Given the description of an element on the screen output the (x, y) to click on. 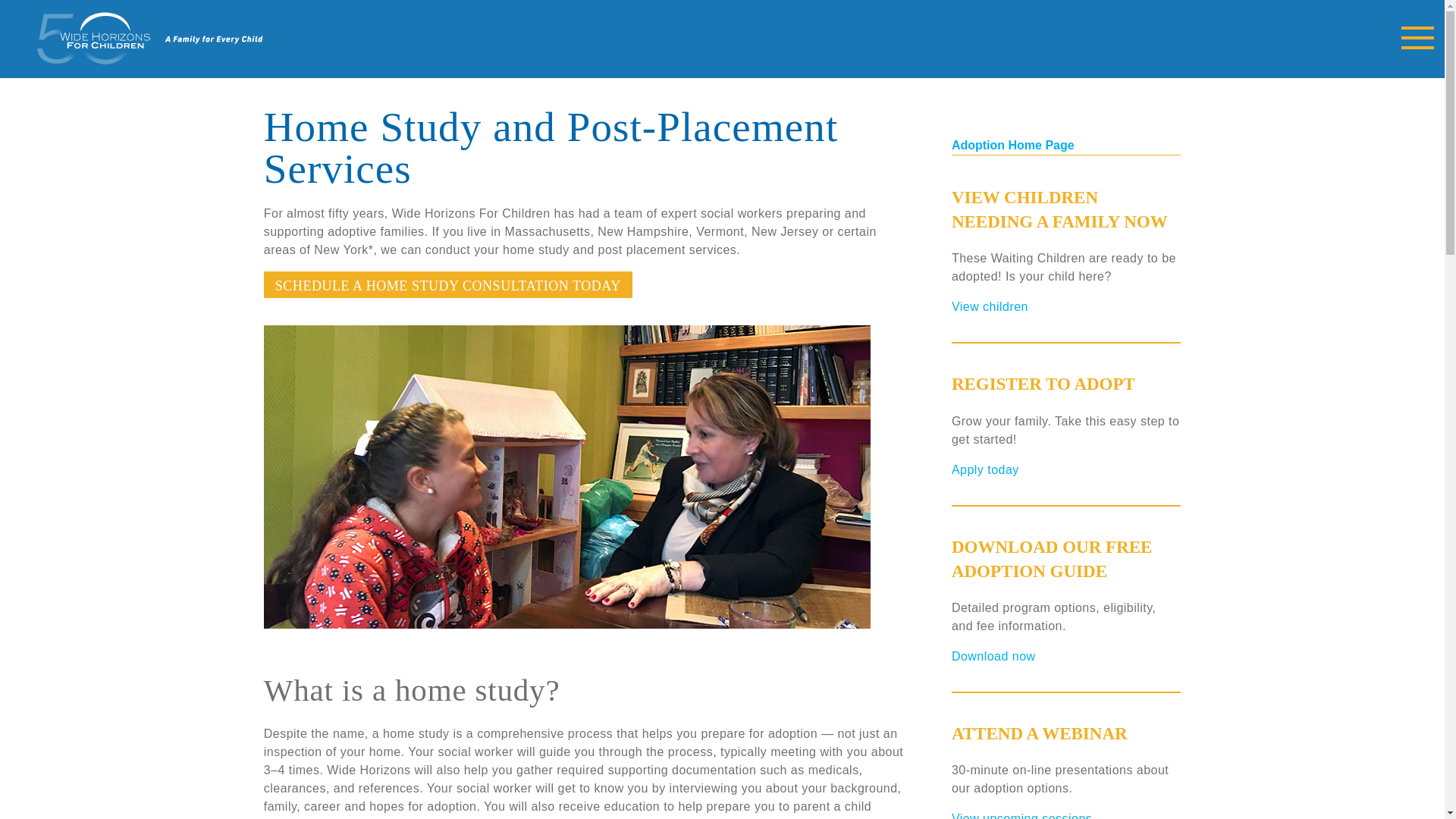
View upcoming sessions (1022, 815)
Download now (993, 656)
Apply today (985, 469)
View children (989, 306)
Adoption Home Page (1013, 144)
SCHEDULE A HOME STUDY CONSULTATION TODAY (447, 284)
